Given the description of an element on the screen output the (x, y) to click on. 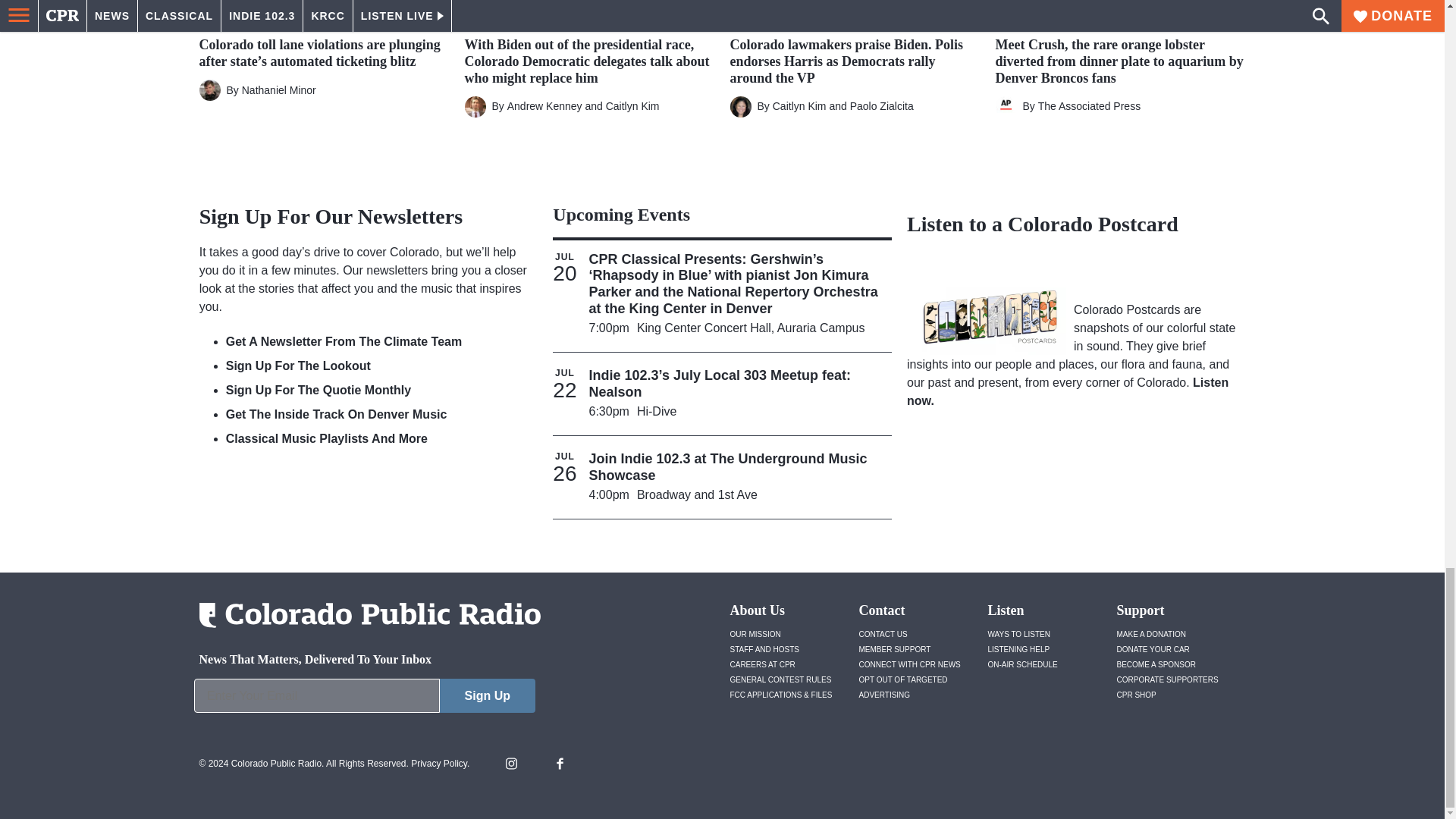
footer (364, 699)
